Given the description of an element on the screen output the (x, y) to click on. 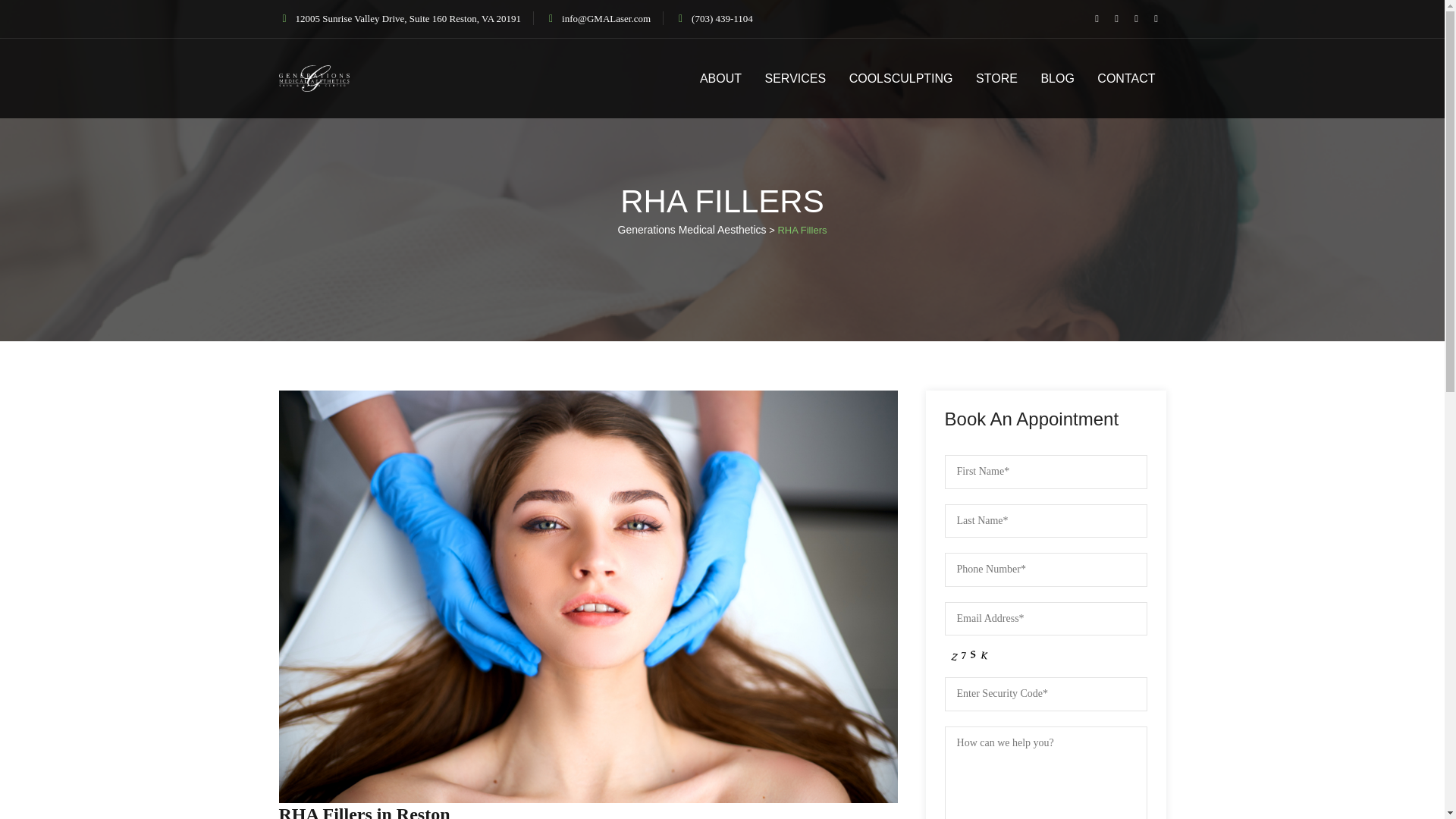
Go to Generations Medical Aesthetics. (692, 229)
SERVICES (795, 77)
Generations Medical Aesthetics (314, 77)
